Given the description of an element on the screen output the (x, y) to click on. 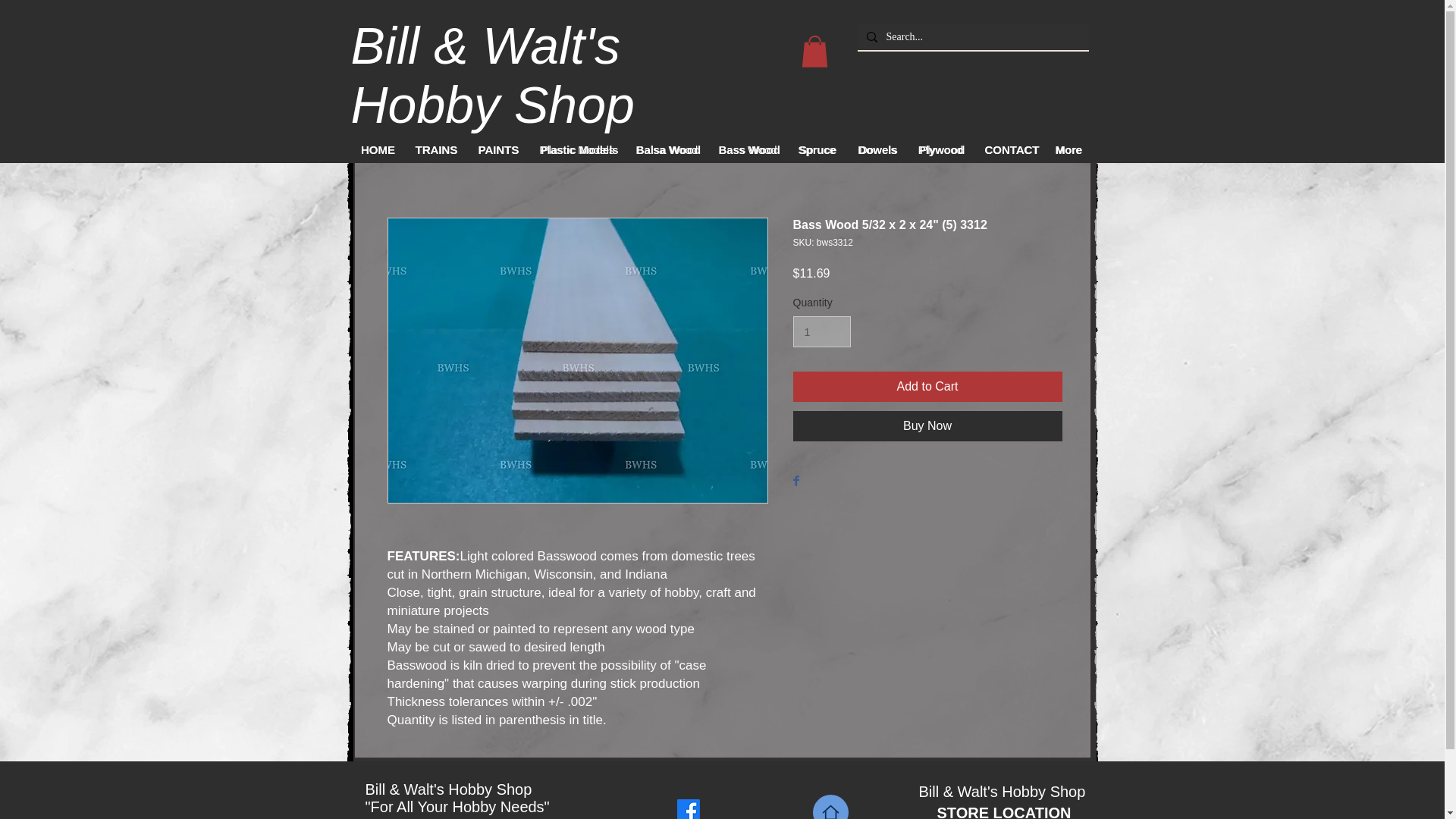
1 (821, 331)
PAINTS (498, 149)
TRAINS (435, 149)
Plastic Models (577, 149)
Facebook Like (735, 810)
HOME (377, 149)
